Given the description of an element on the screen output the (x, y) to click on. 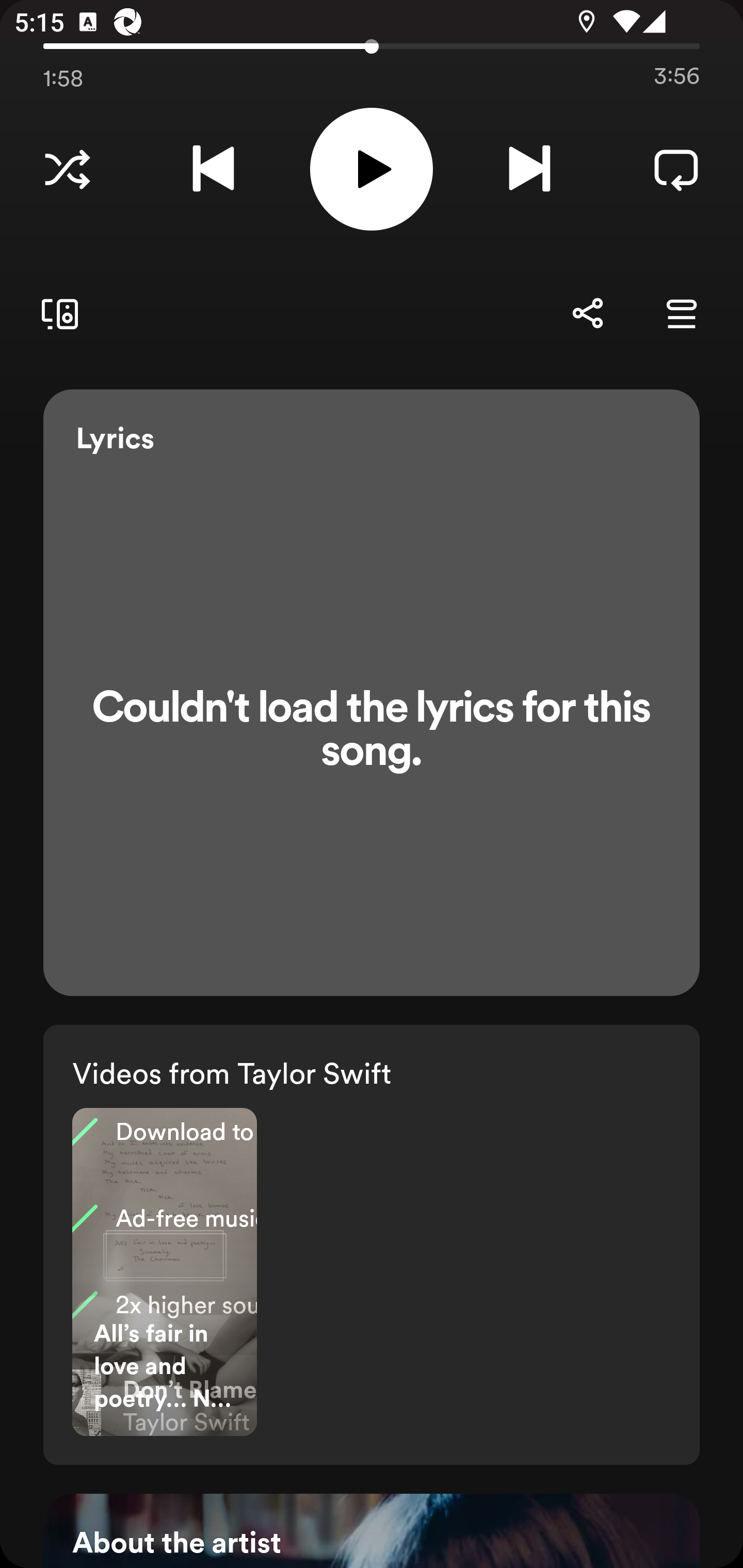
118000.0 Use volume keys to adjust (371, 42)
Play (371, 169)
Previous (212, 168)
Next (529, 168)
Choose a Listening Mode (66, 168)
Repeat (676, 168)
Share (587, 313)
Go to Queue (681, 313)
Connect to a device. Opens the devices menu (55, 313)
